Given the description of an element on the screen output the (x, y) to click on. 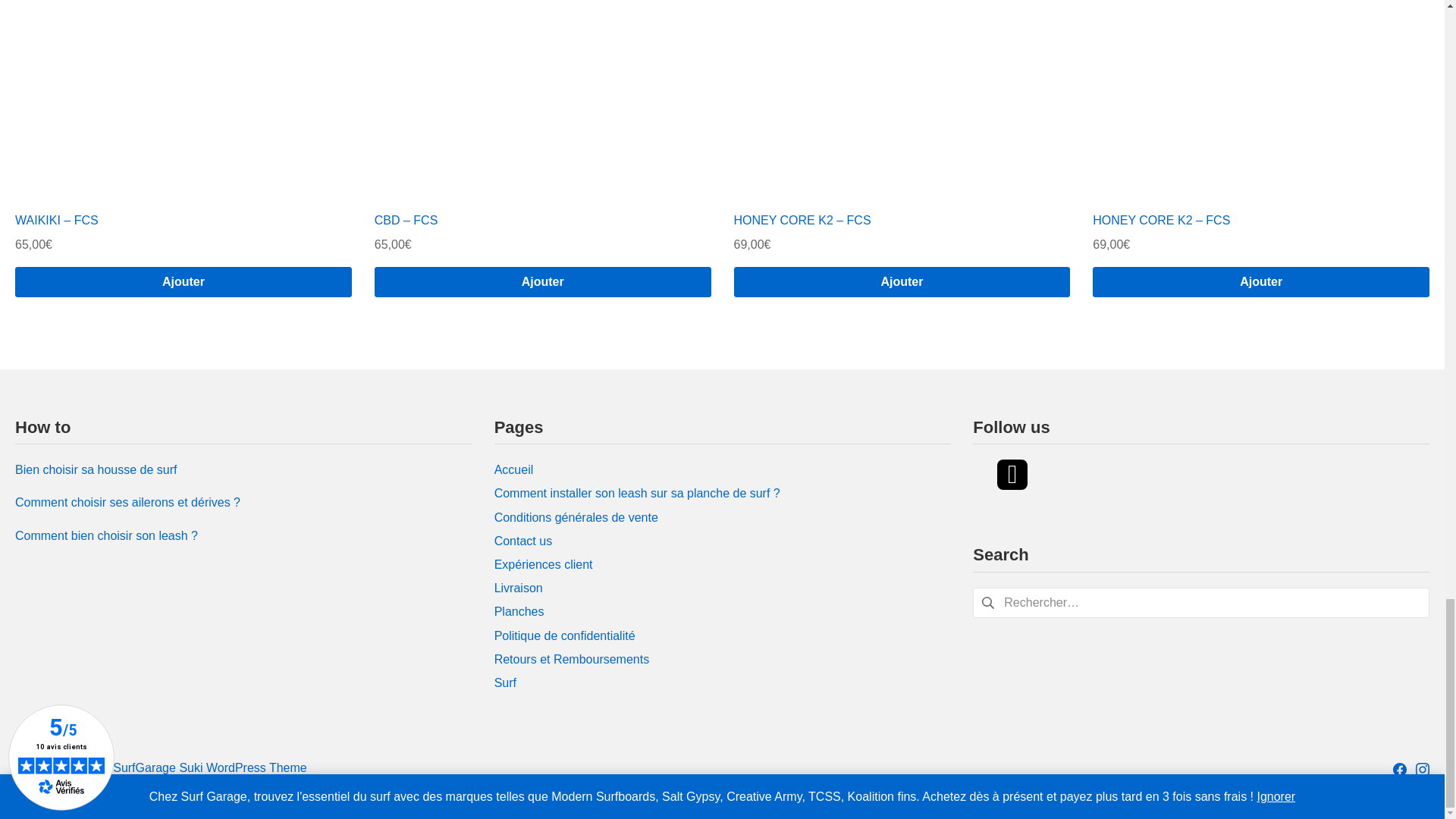
Facebook (1399, 769)
Instagram (1422, 769)
Instagram icon (1422, 769)
Instagram (1012, 474)
